Given the description of an element on the screen output the (x, y) to click on. 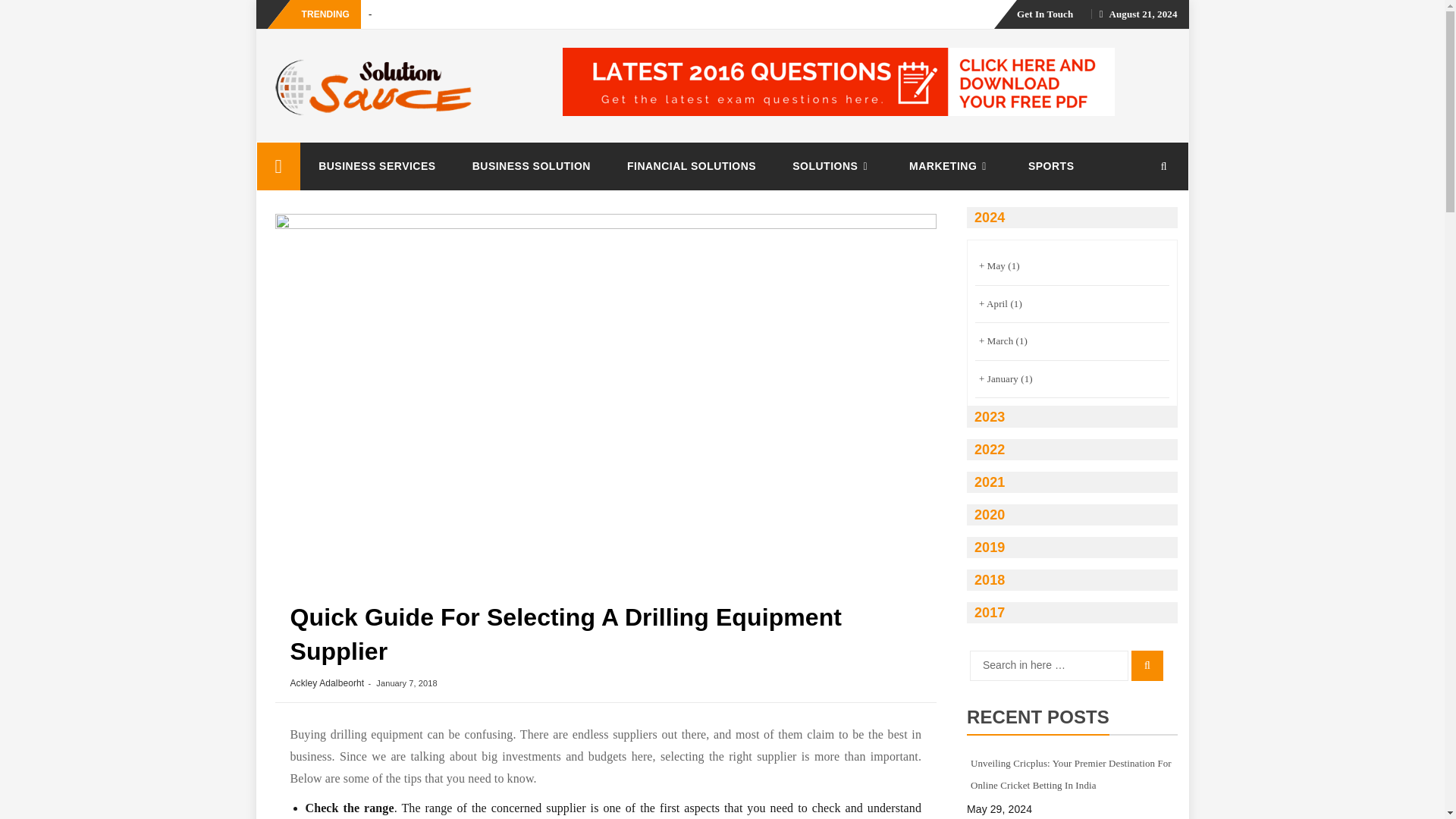
Search (1147, 665)
SPORTS (1051, 165)
FINANCIAL SOLUTIONS (691, 165)
Ackley Adalbeorht (326, 683)
Search for: (1048, 665)
BUSINESS SERVICES (376, 165)
Get In Touch (1044, 13)
MARKETING (950, 166)
